Given the description of an element on the screen output the (x, y) to click on. 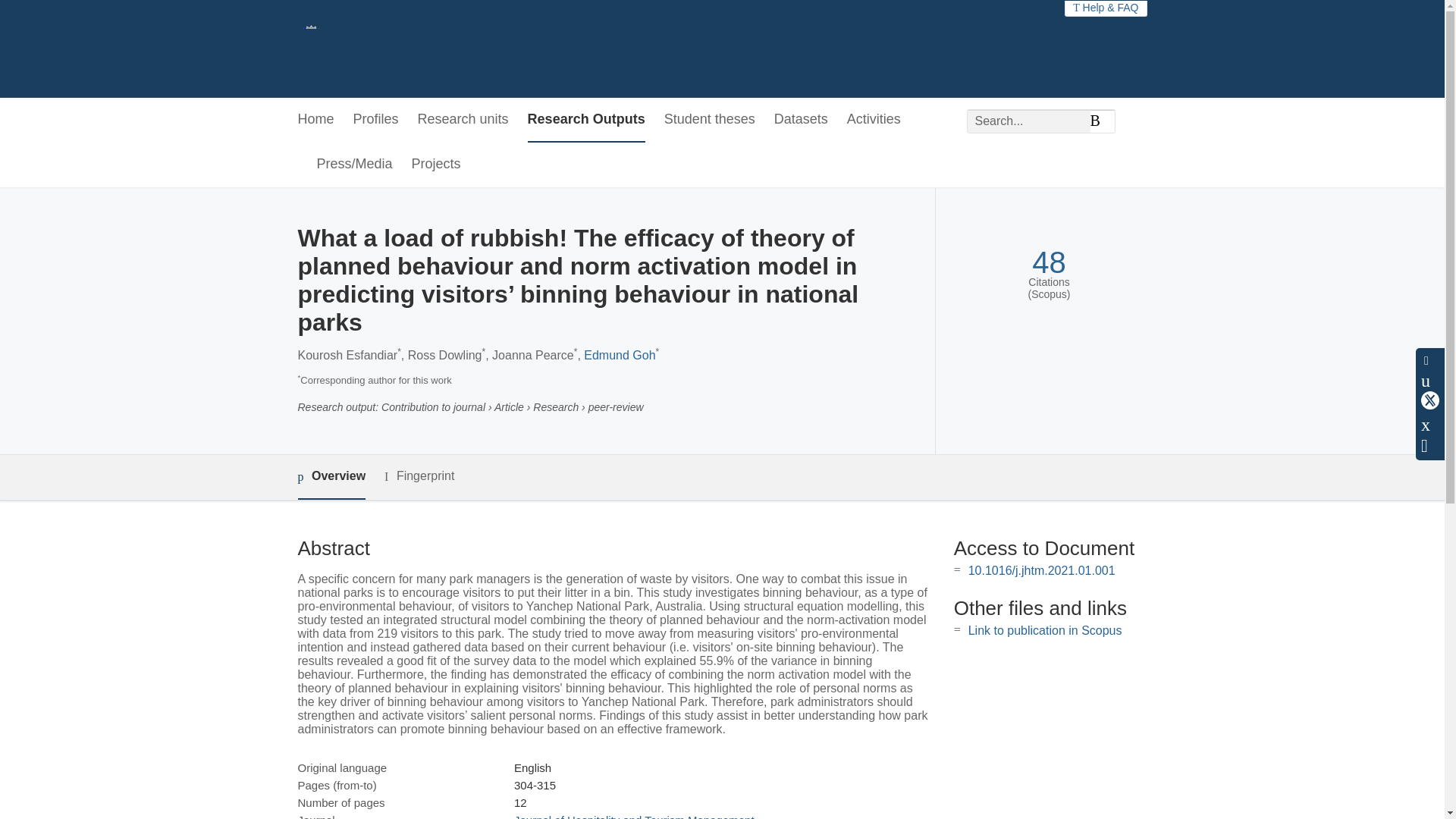
Link to publication in Scopus (1045, 630)
Fingerprint (419, 476)
Student theses (709, 119)
Activities (874, 119)
Bond University Research Portal Home (352, 48)
Research units (462, 119)
Projects (436, 164)
Overview (331, 477)
48 (1048, 262)
